Given the description of an element on the screen output the (x, y) to click on. 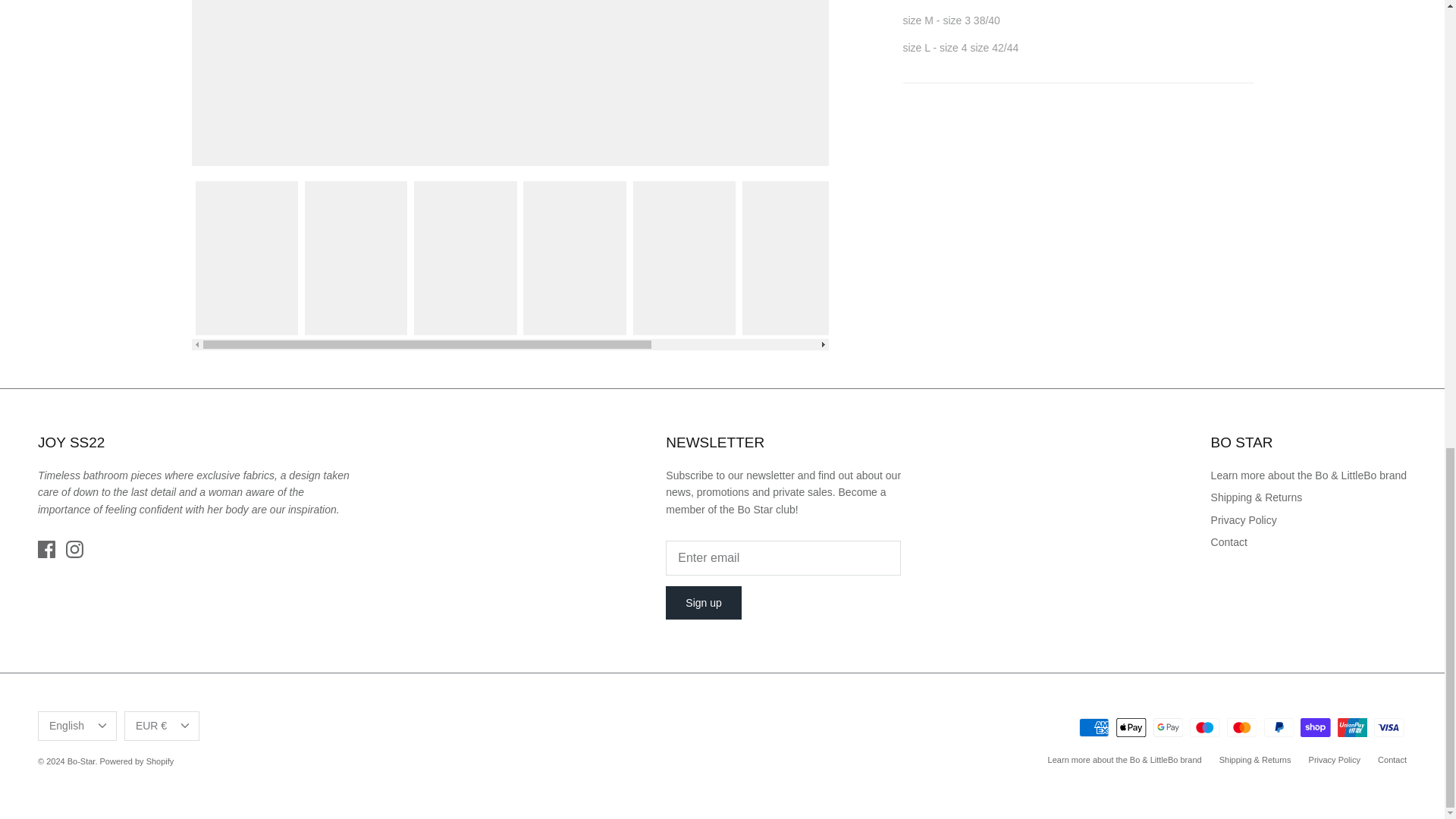
Maestro (1204, 727)
Instagram (73, 548)
Shop Pay (1315, 727)
Facebook (46, 548)
Visa (1388, 727)
PayPal (1277, 727)
Union Pay (1352, 727)
American Express (1093, 727)
Apple Pay (1130, 727)
Down (184, 725)
